Given the description of an element on the screen output the (x, y) to click on. 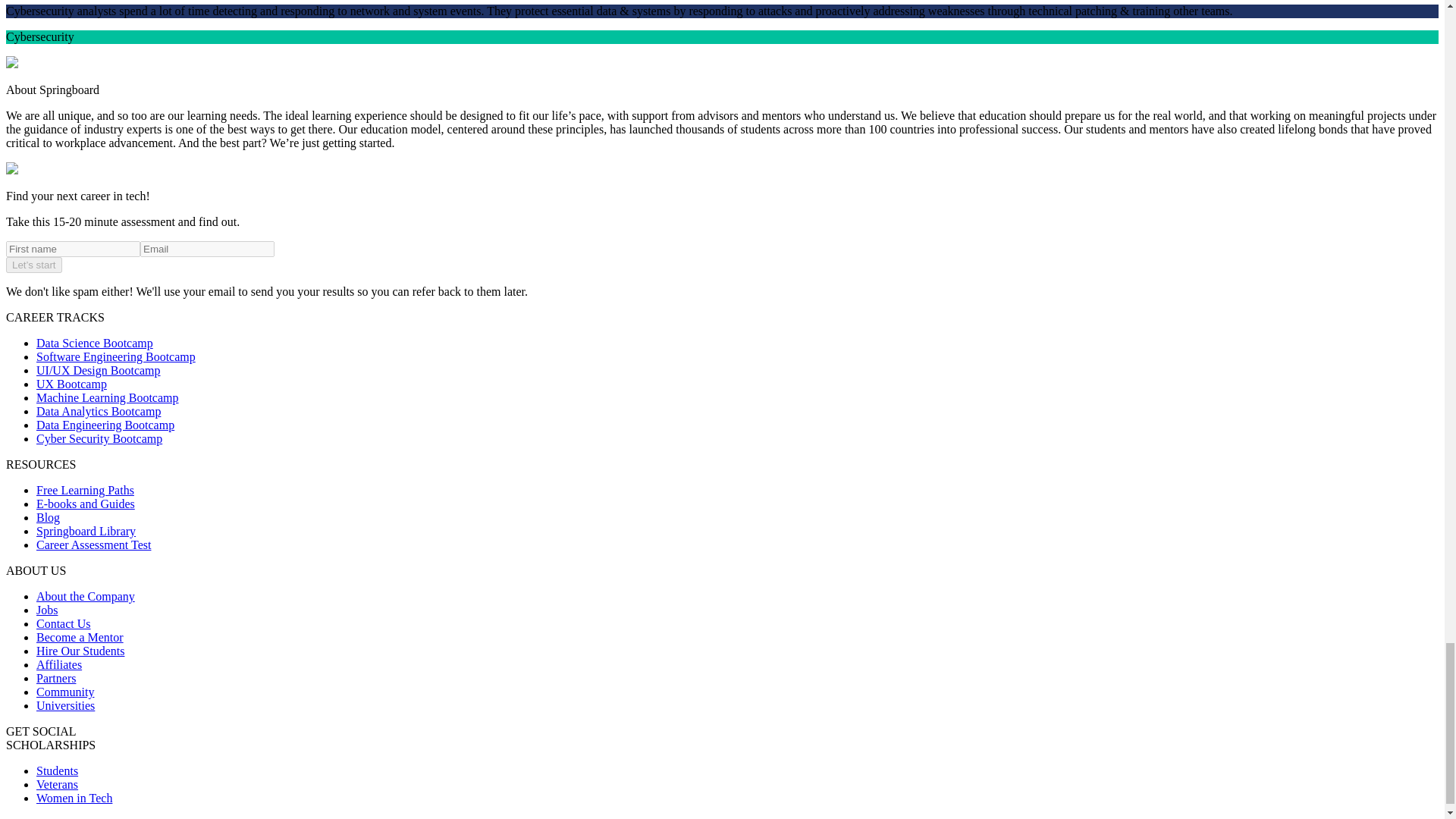
Data Engineering Bootcamp (105, 424)
E-books and Guides (85, 503)
Blog (47, 517)
Hire Our Students (79, 650)
Veterans (57, 784)
Machine Learning Bootcamp (107, 397)
Community (65, 691)
Partners (55, 677)
Data Science Bootcamp (94, 342)
Women in Tech (74, 797)
Career Assessment Test (93, 544)
Affiliates (58, 664)
Springboard Library (85, 530)
About the Company (85, 595)
Students (57, 770)
